Given the description of an element on the screen output the (x, y) to click on. 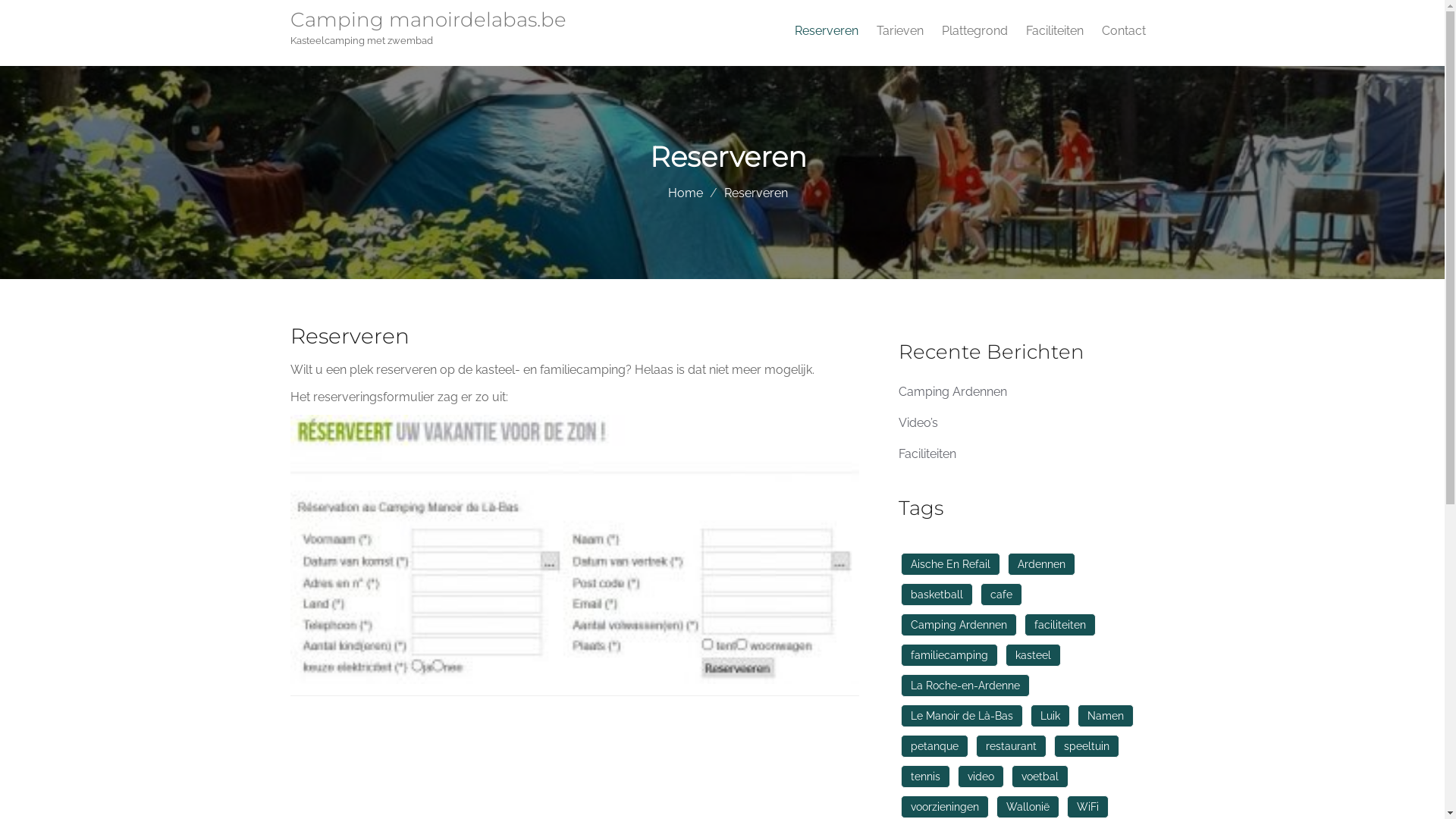
Faciliteiten Element type: text (926, 453)
Camping Ardennen Element type: text (958, 624)
basketball Element type: text (936, 594)
Ardennen Element type: text (1040, 563)
cafe Element type: text (1000, 594)
voetbal Element type: text (1039, 776)
tennis Element type: text (925, 776)
La Roche-en-Ardenne Element type: text (964, 685)
Camping manoirdelabas.be Element type: text (433, 22)
Namen Element type: text (1104, 715)
Faciliteiten Element type: text (1054, 31)
video Element type: text (980, 776)
Aische En Refail Element type: text (950, 563)
Reserveren Element type: text (826, 31)
faciliteiten Element type: text (1059, 624)
voorzieningen Element type: text (944, 806)
WiFi Element type: text (1086, 806)
Home Element type: text (685, 192)
speeltuin Element type: text (1086, 745)
Contact Element type: text (1123, 31)
Plattegrond Element type: text (974, 31)
Tarieven Element type: text (899, 31)
Camping Ardennen Element type: text (951, 391)
restaurant Element type: text (1010, 745)
petanque Element type: text (934, 745)
familiecamping Element type: text (948, 654)
Luik Element type: text (1049, 715)
kasteel Element type: text (1032, 654)
